Given the description of an element on the screen output the (x, y) to click on. 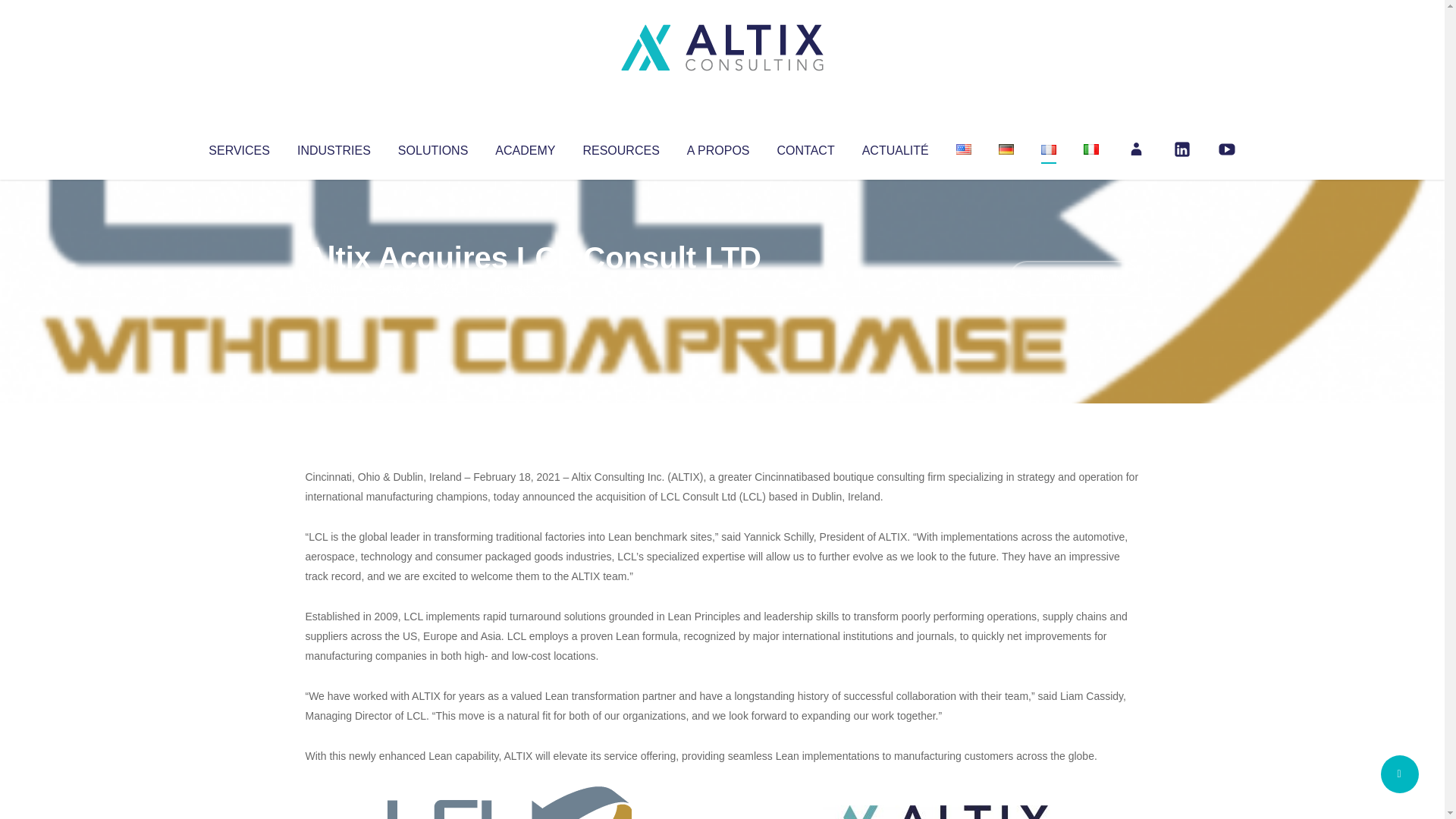
Altix (333, 287)
No Comments (1073, 278)
INDUSTRIES (334, 146)
A PROPOS (718, 146)
ACADEMY (524, 146)
SERVICES (238, 146)
SOLUTIONS (432, 146)
Articles par Altix (333, 287)
Uncategorized (530, 287)
RESOURCES (620, 146)
